Given the description of an element on the screen output the (x, y) to click on. 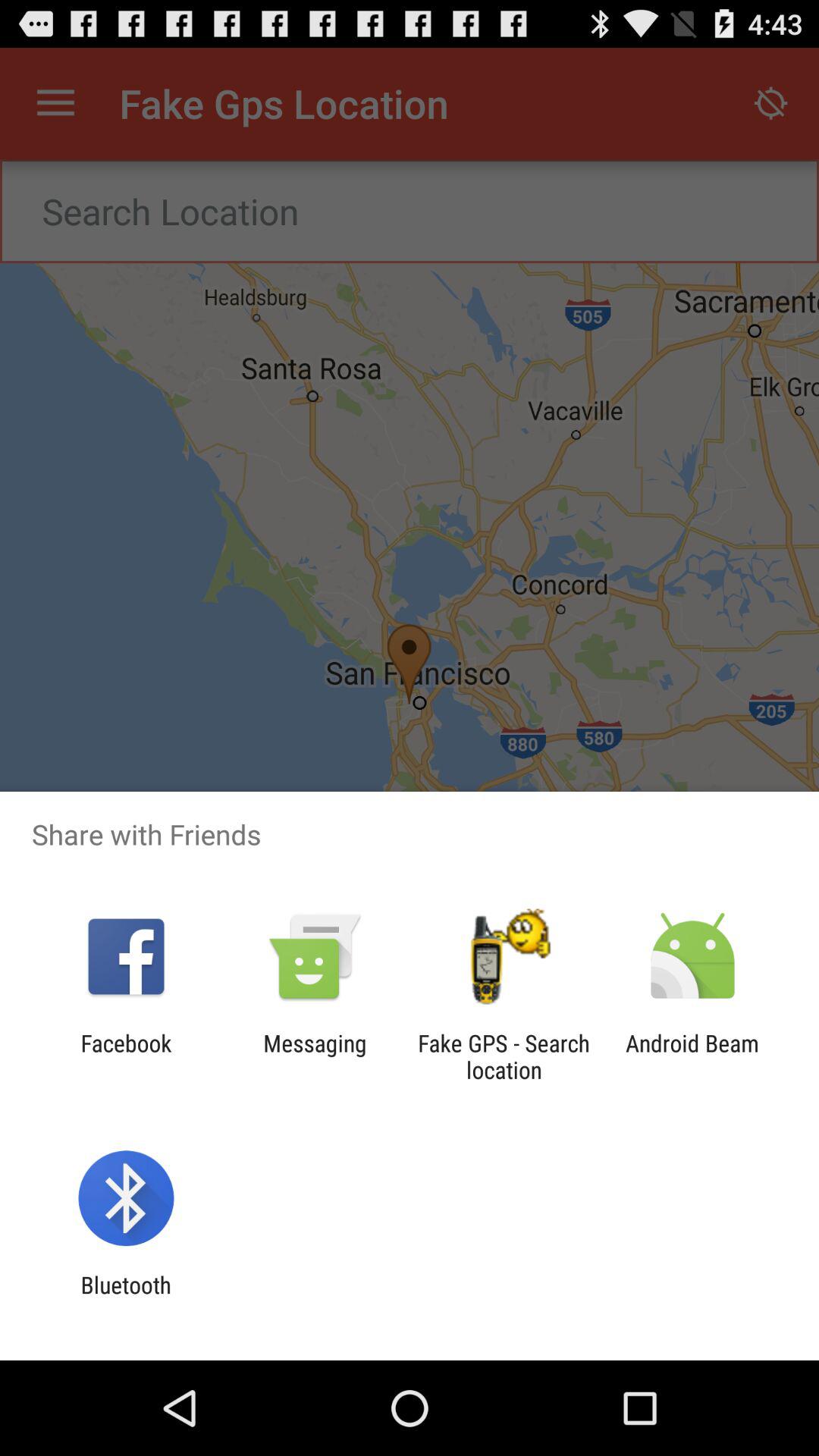
flip until the facebook icon (125, 1056)
